Given the description of an element on the screen output the (x, y) to click on. 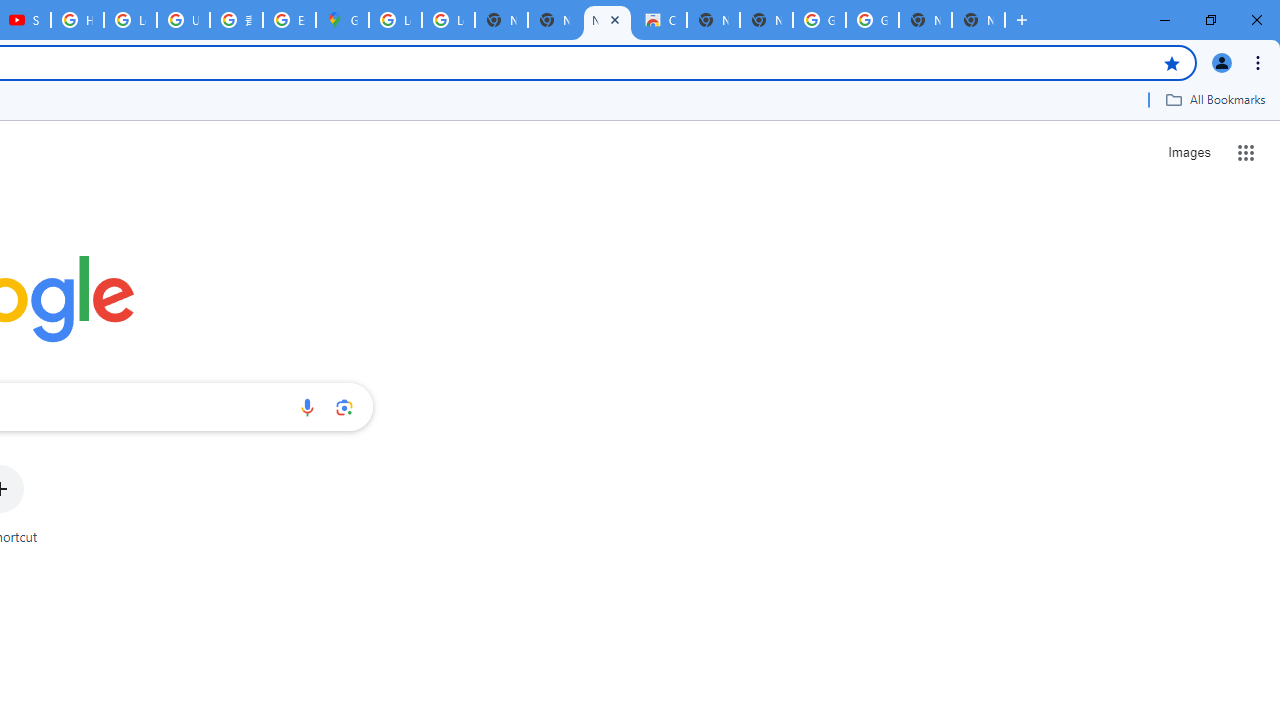
Google Maps (342, 20)
